Given the description of an element on the screen output the (x, y) to click on. 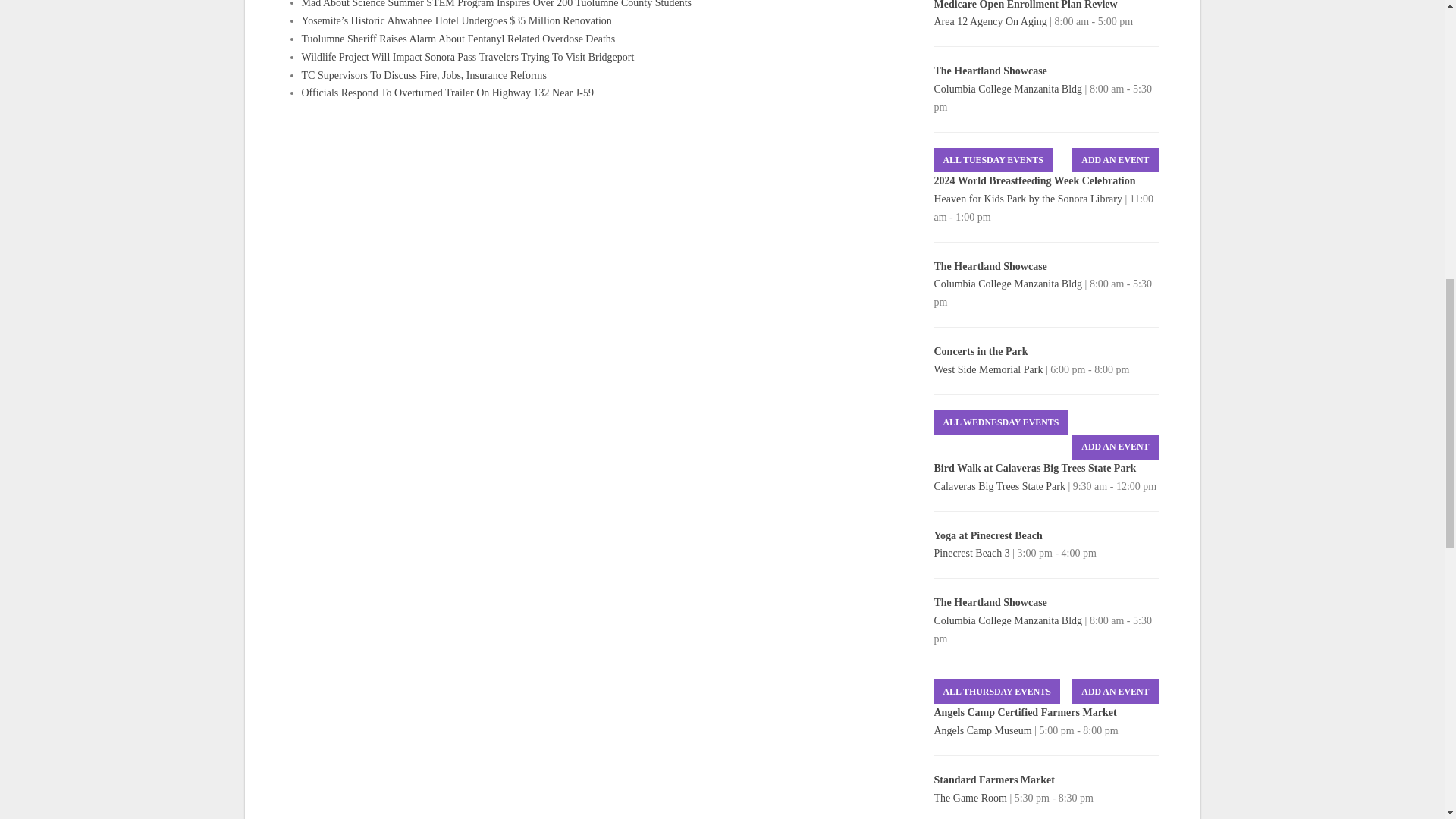
All Wednesday Events (1001, 422)
All Tuesday Events (993, 160)
Add An Event (1114, 160)
Add An Event (1114, 691)
Add An Event (1114, 446)
All Thursday Events (996, 691)
